Given the description of an element on the screen output the (x, y) to click on. 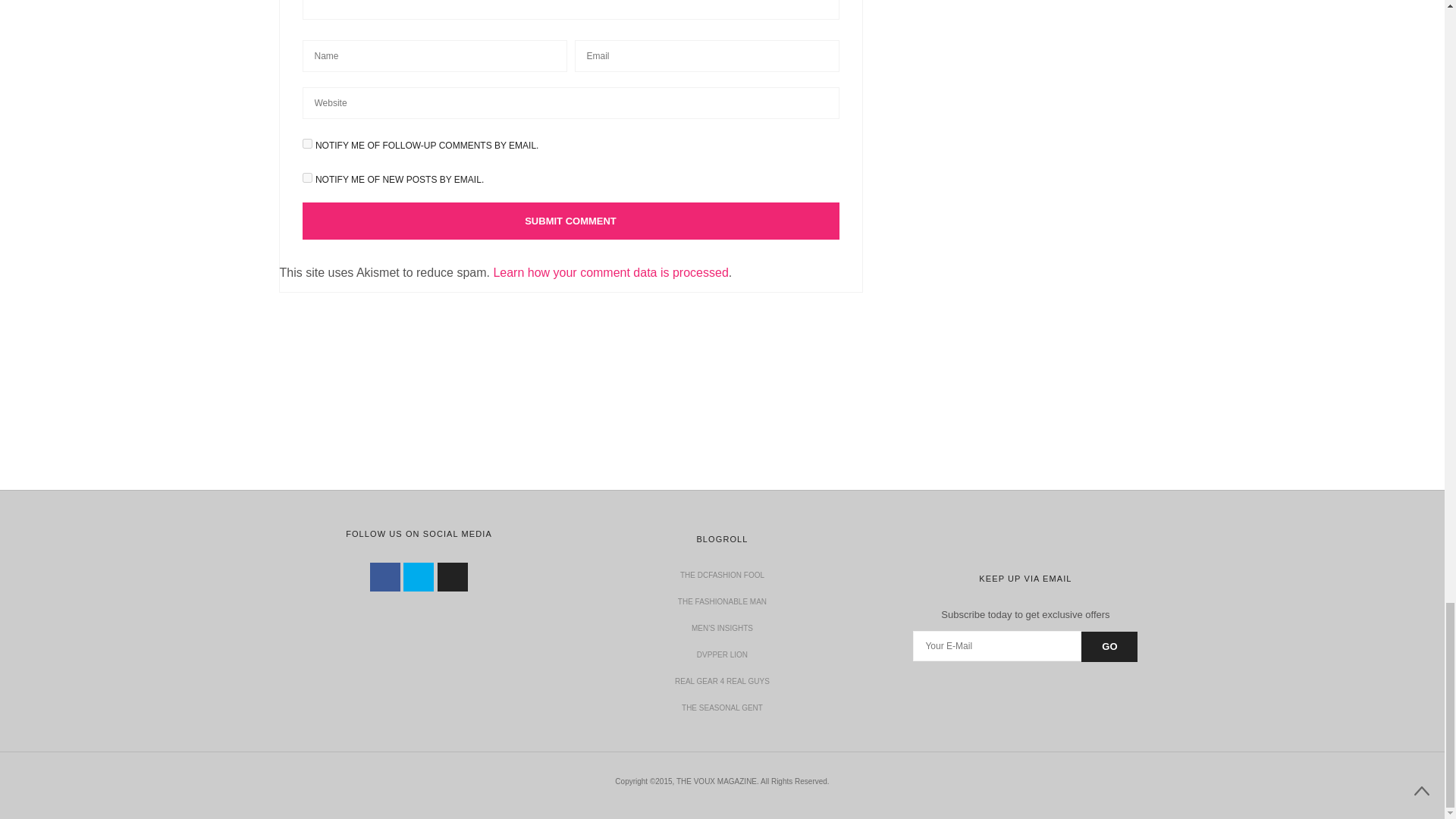
subscribe (306, 143)
subscribe (306, 177)
Submit Comment (569, 220)
